Given the description of an element on the screen output the (x, y) to click on. 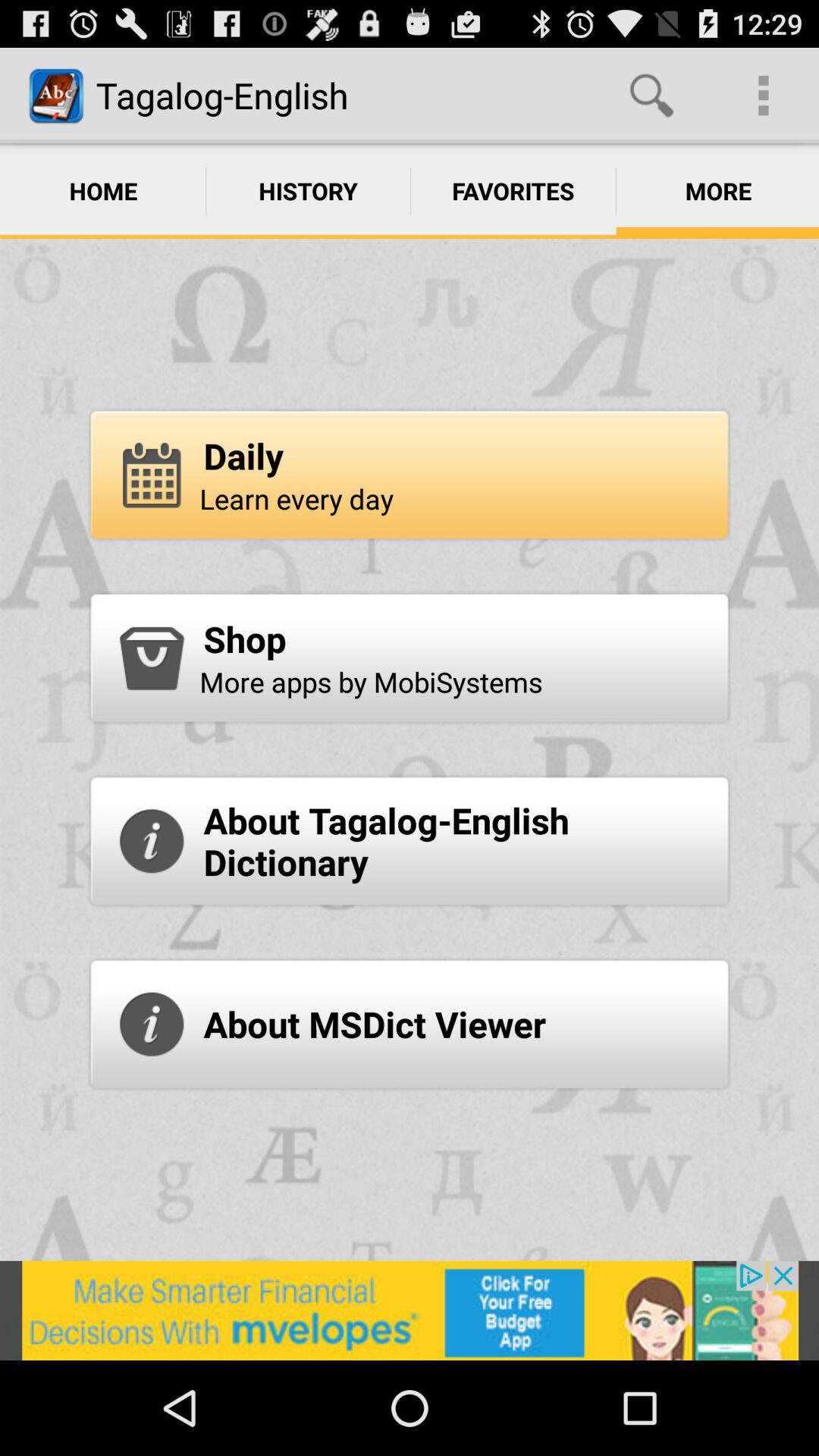
select the first box (409, 475)
select more next to favourites (717, 190)
select the icon which says shop (151, 658)
select the option favorites (513, 190)
